Given the description of an element on the screen output the (x, y) to click on. 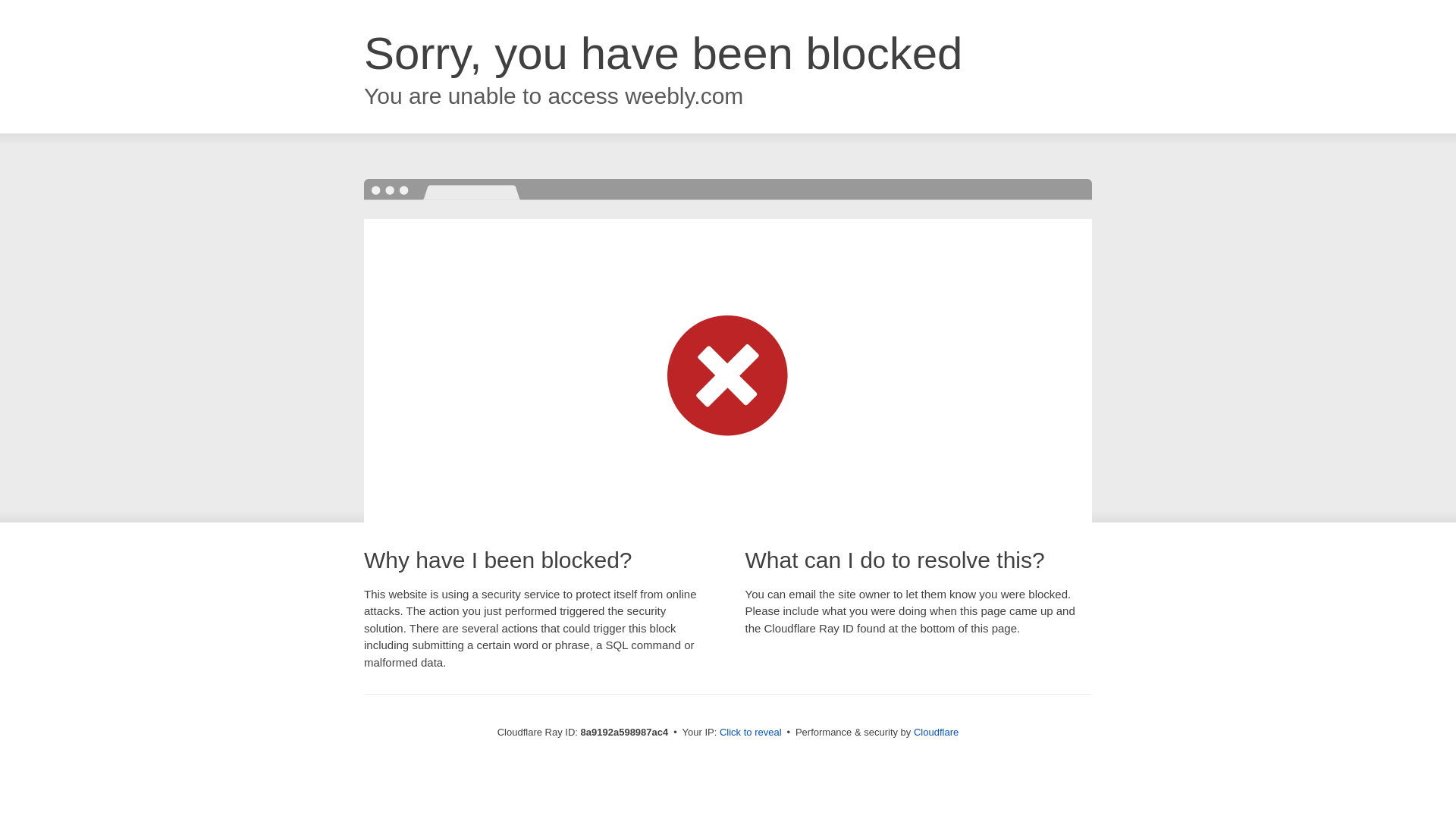
Cloudflare (936, 731)
Click to reveal (750, 732)
